Given the description of an element on the screen output the (x, y) to click on. 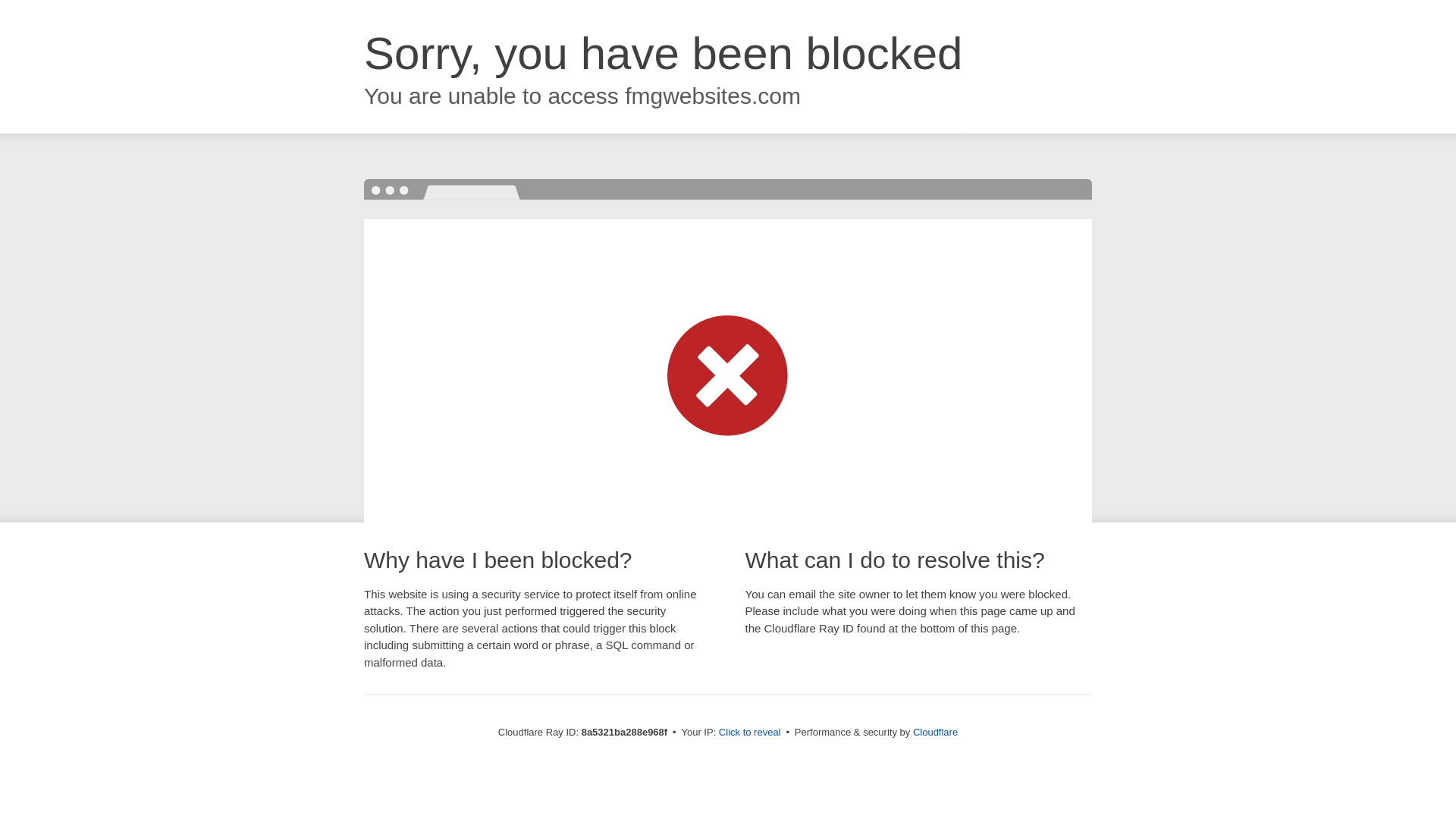
Cloudflare (935, 731)
Click to reveal (749, 732)
